Given the description of an element on the screen output the (x, y) to click on. 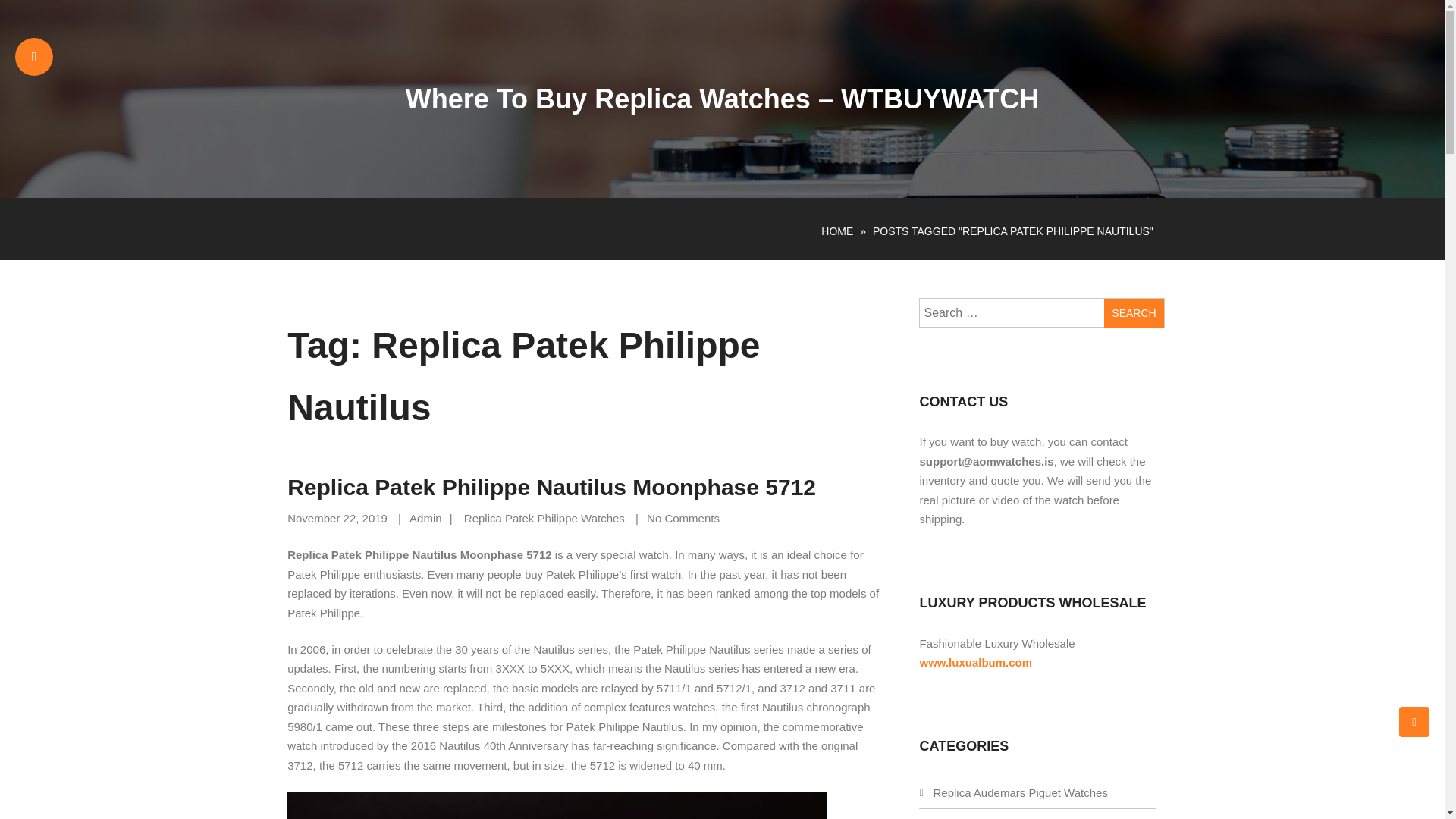
www.luxualbum.com (975, 662)
Admin (425, 517)
Search (1133, 313)
HOME (837, 231)
Search (1133, 313)
November 22, 2019 (336, 517)
Search (1133, 313)
Replica Audemars Piguet Watches (1019, 792)
